Given the description of an element on the screen output the (x, y) to click on. 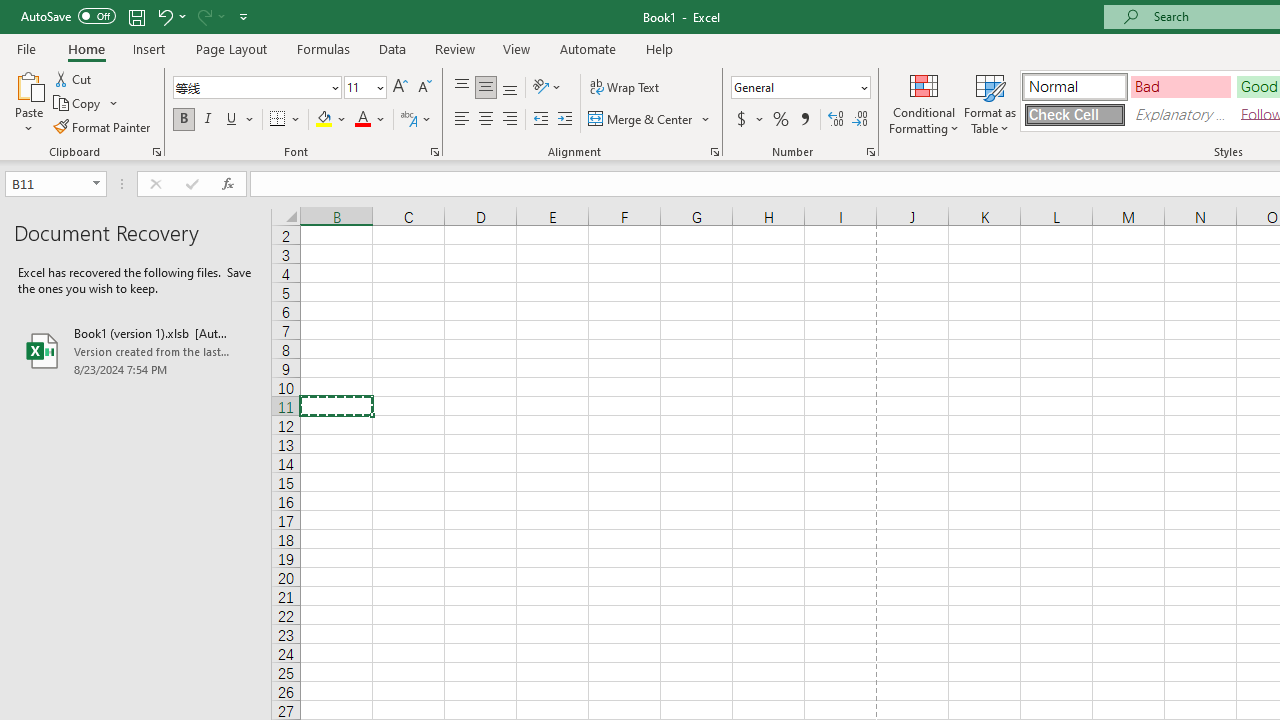
Merge & Center (649, 119)
Copy (85, 103)
Orientation (547, 87)
Borders (285, 119)
Number Format (794, 87)
Font Color RGB(255, 0, 0) (362, 119)
Align Left (461, 119)
Show Phonetic Field (408, 119)
